Given the description of an element on the screen output the (x, y) to click on. 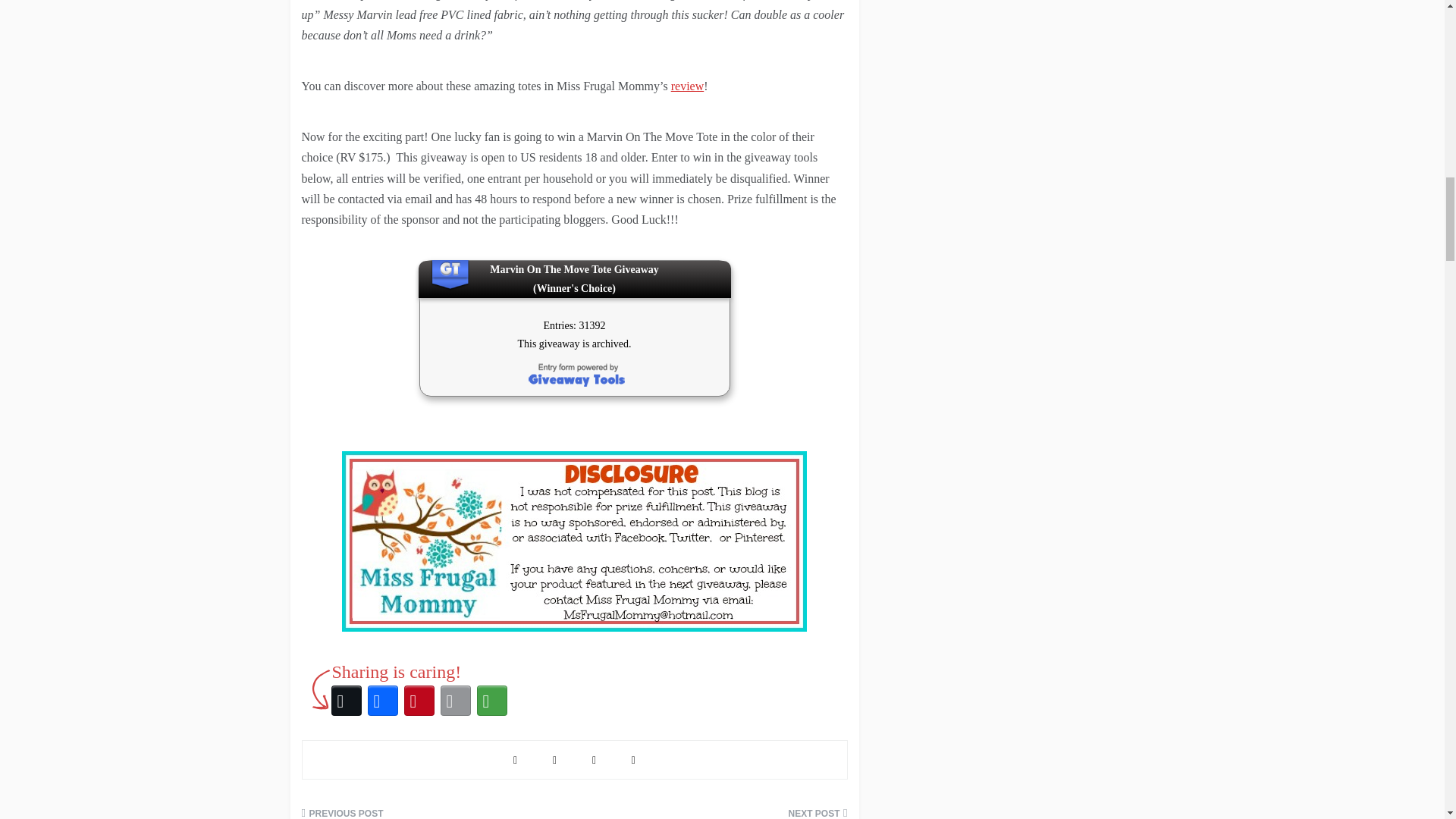
More Options (491, 700)
review (687, 85)
Pinterest (418, 700)
Email This (454, 700)
Facebook (382, 700)
